Given the description of an element on the screen output the (x, y) to click on. 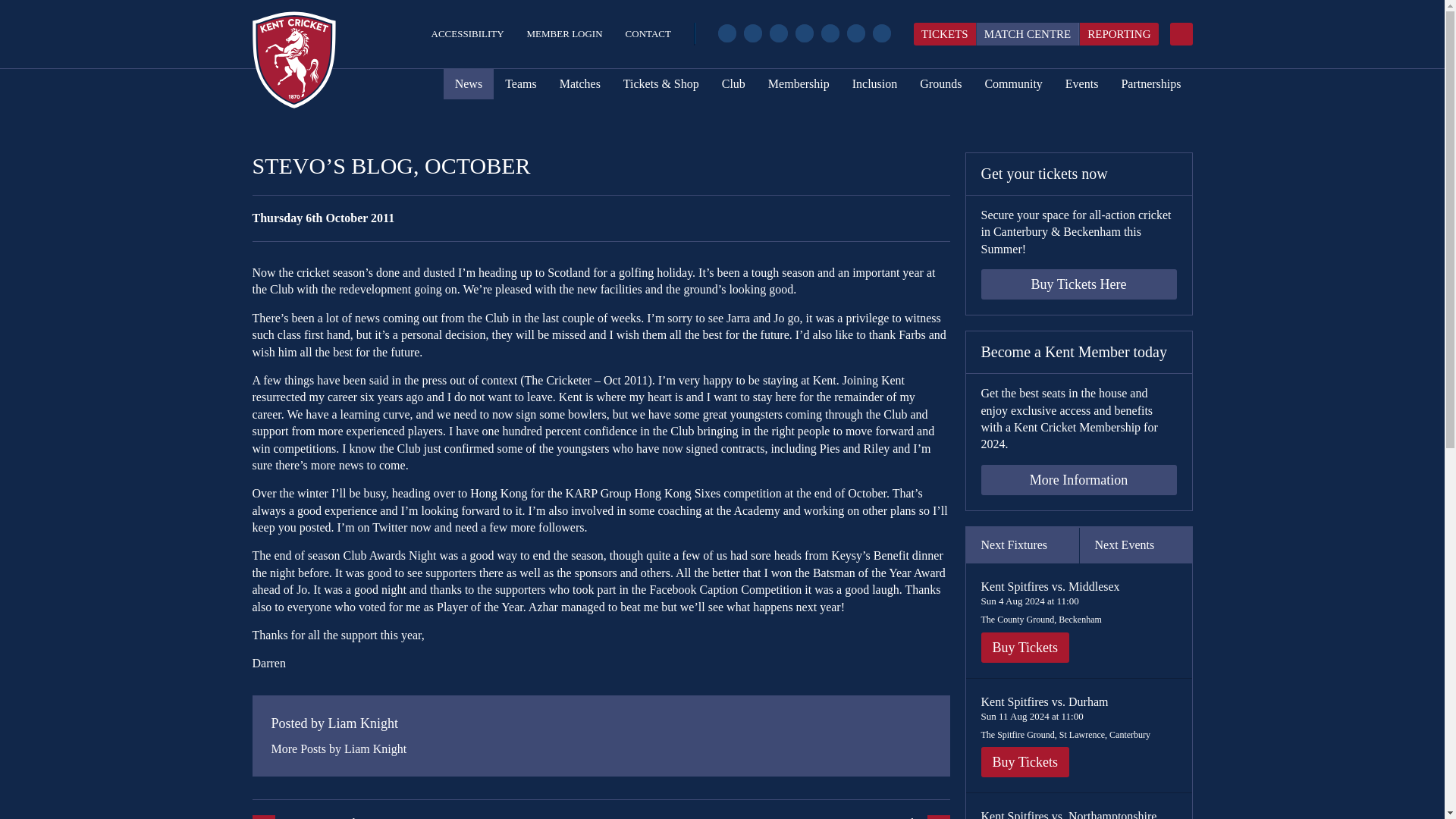
TICKETS (944, 33)
Newsletter (881, 33)
YouTube (803, 33)
MATCH CENTRE (1027, 33)
News (468, 83)
Instagram (778, 33)
Facebook (726, 33)
MEMBER LOGIN (564, 33)
Previous Article (425, 816)
TikTok (830, 33)
ACCESSIBILITY (466, 33)
REPORTING (1117, 33)
CONTACT (648, 33)
Matches (579, 83)
LinkedIn (855, 33)
